Given the description of an element on the screen output the (x, y) to click on. 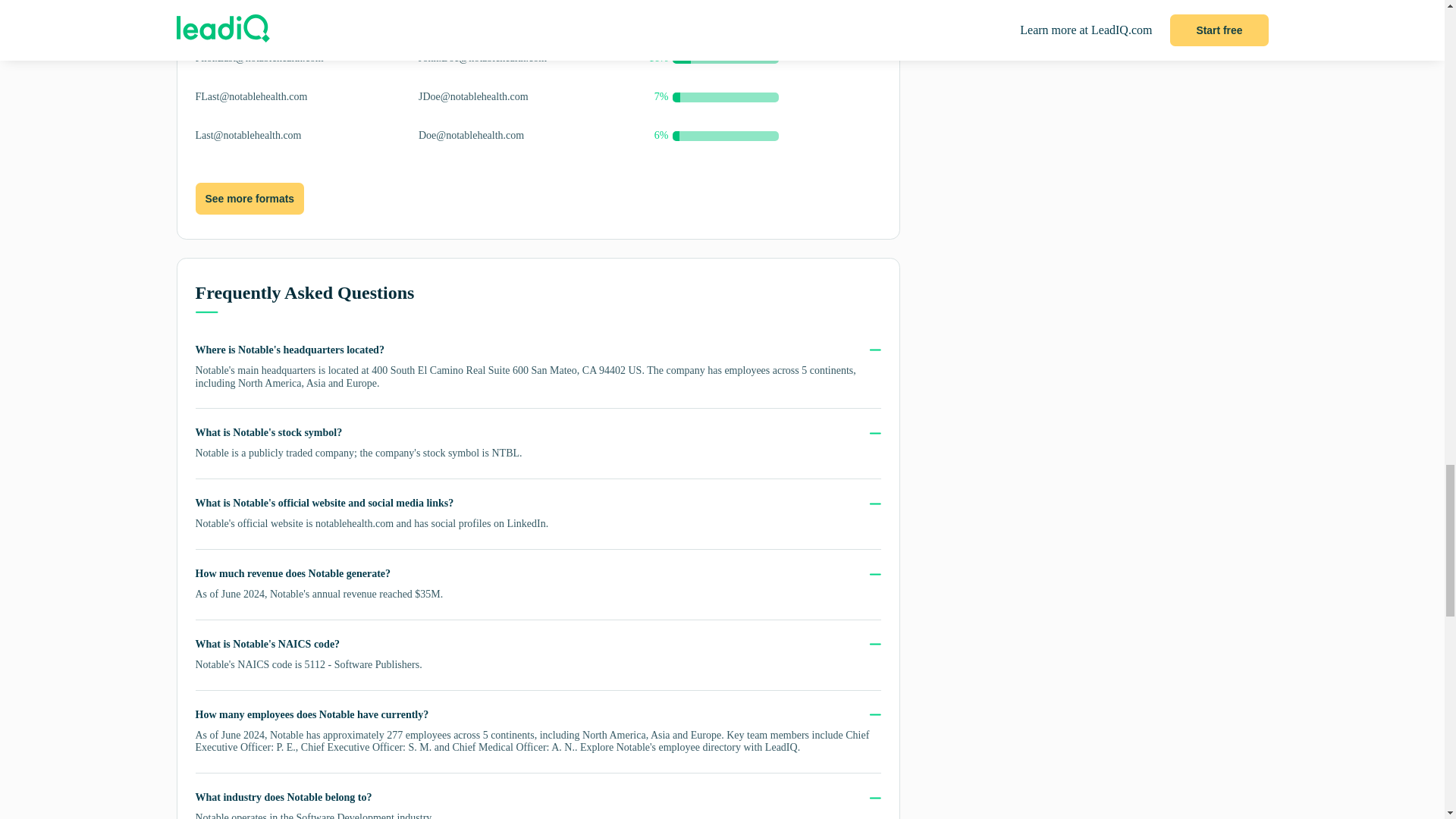
notablehealth.com (354, 523)
See more formats (249, 198)
LinkedIn (525, 523)
See more formats (249, 199)
Notable's employee directory (678, 747)
